Given the description of an element on the screen output the (x, y) to click on. 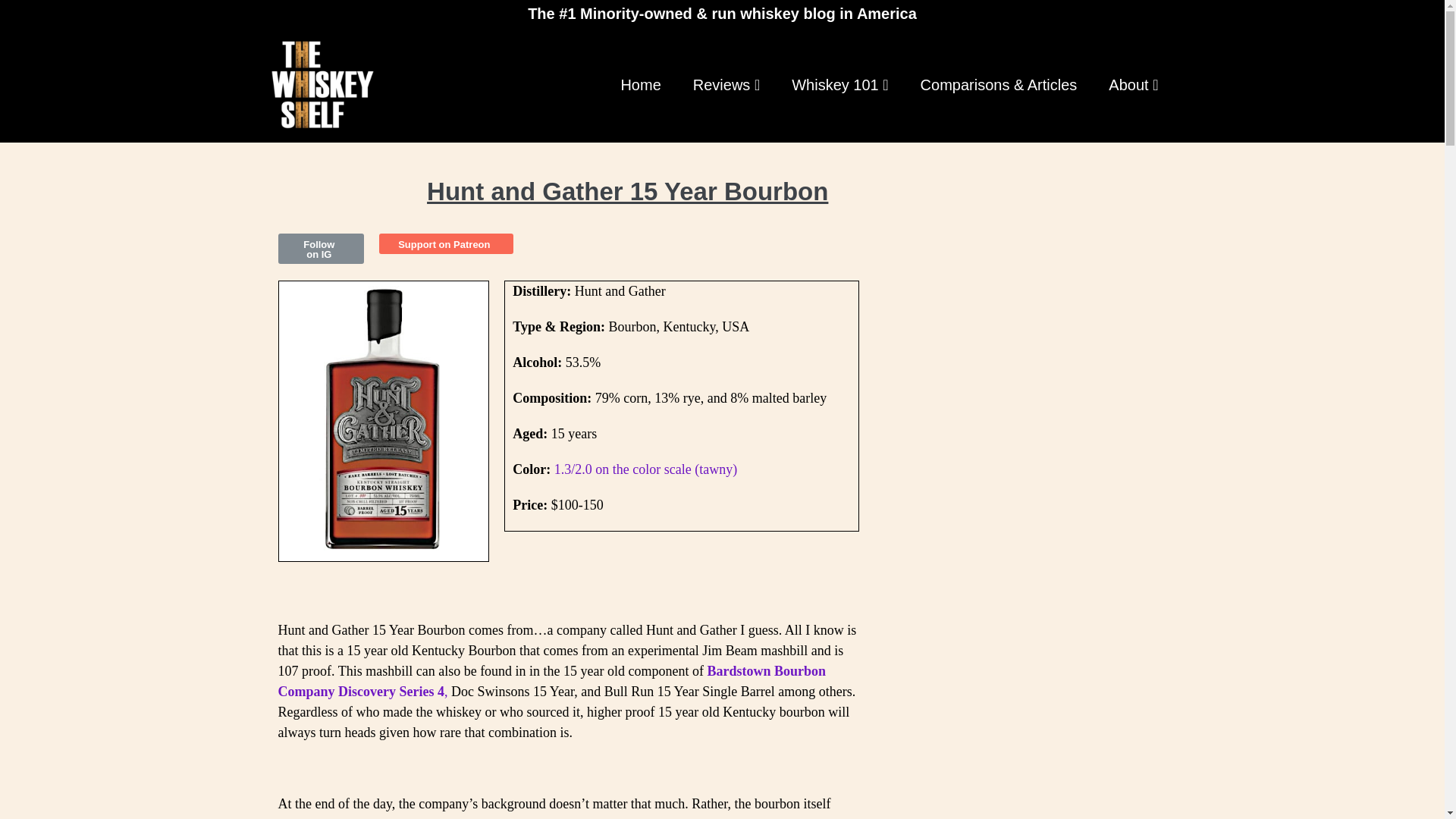
About (1133, 84)
Reviews (726, 84)
Follow on IG (321, 248)
Home (640, 84)
The Whiskey Shelf (321, 84)
Whiskey 101 (840, 84)
